Given the description of an element on the screen output the (x, y) to click on. 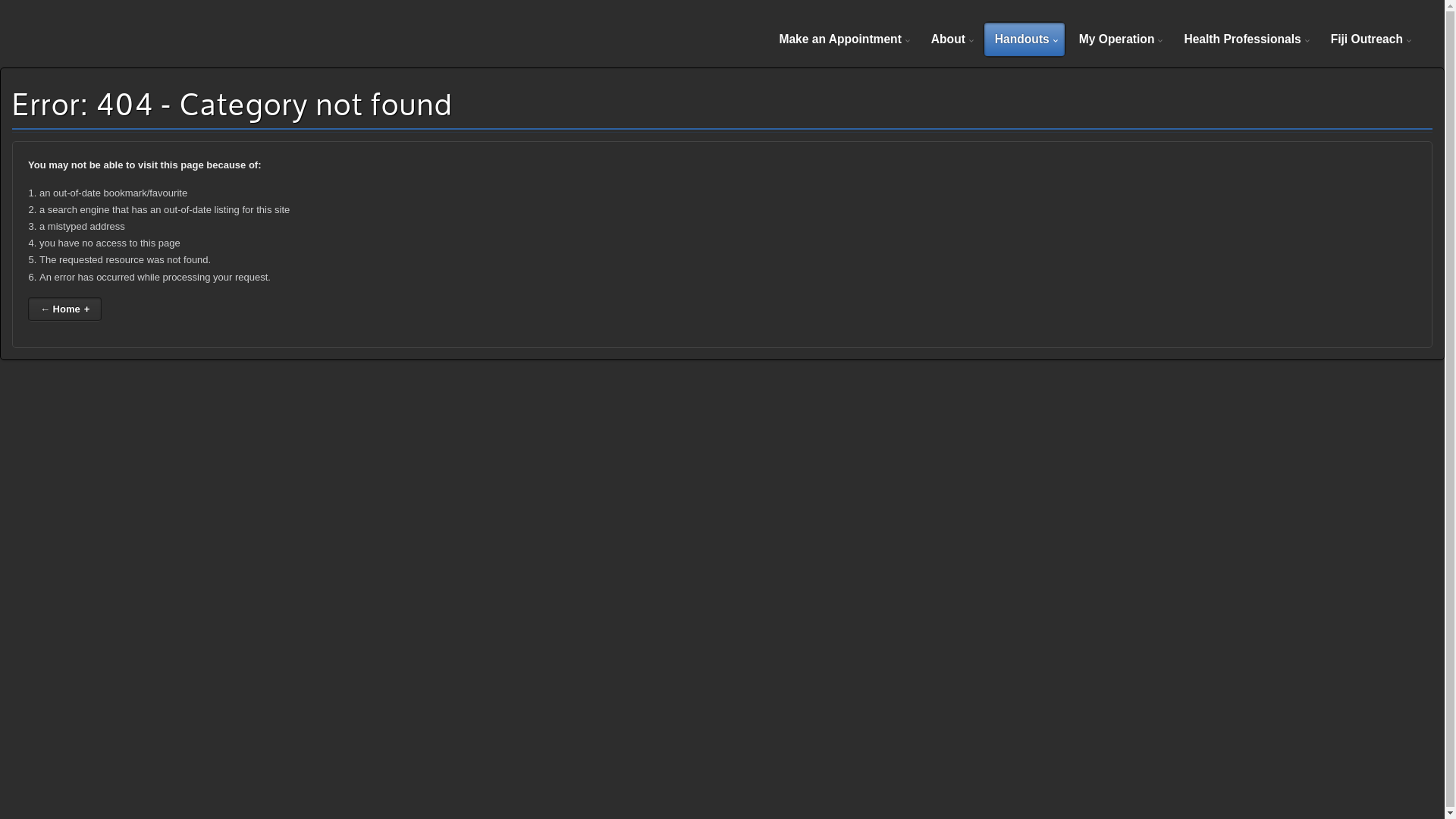
My Operation Element type: text (1119, 39)
Make an Appointment Element type: text (842, 39)
Fiji Outreach Element type: text (1369, 39)
Handouts Element type: text (1024, 39)
About Element type: text (950, 39)
Health Professionals Element type: text (1244, 39)
